Given the description of an element on the screen output the (x, y) to click on. 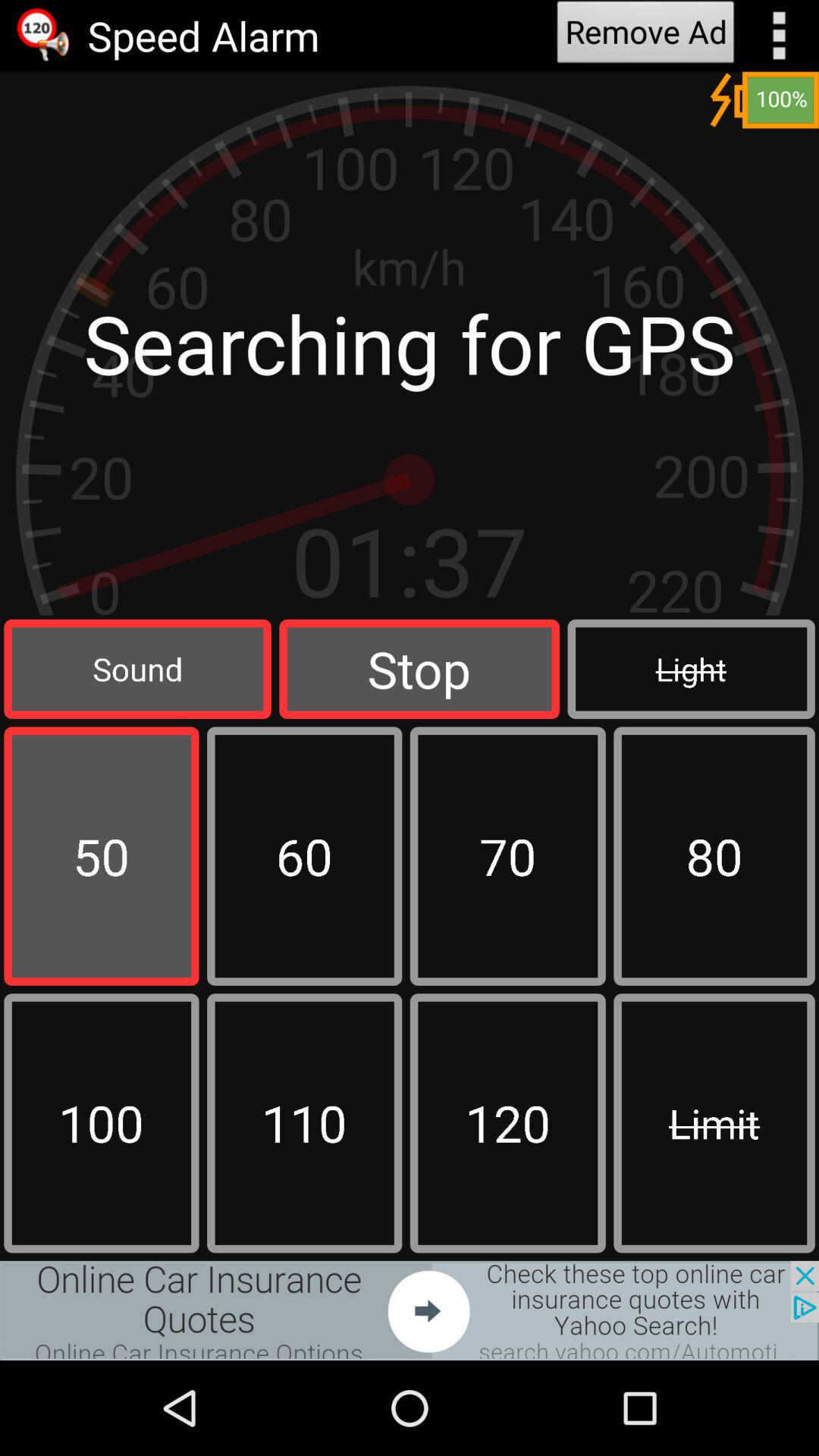
advertisement (409, 1310)
